Given the description of an element on the screen output the (x, y) to click on. 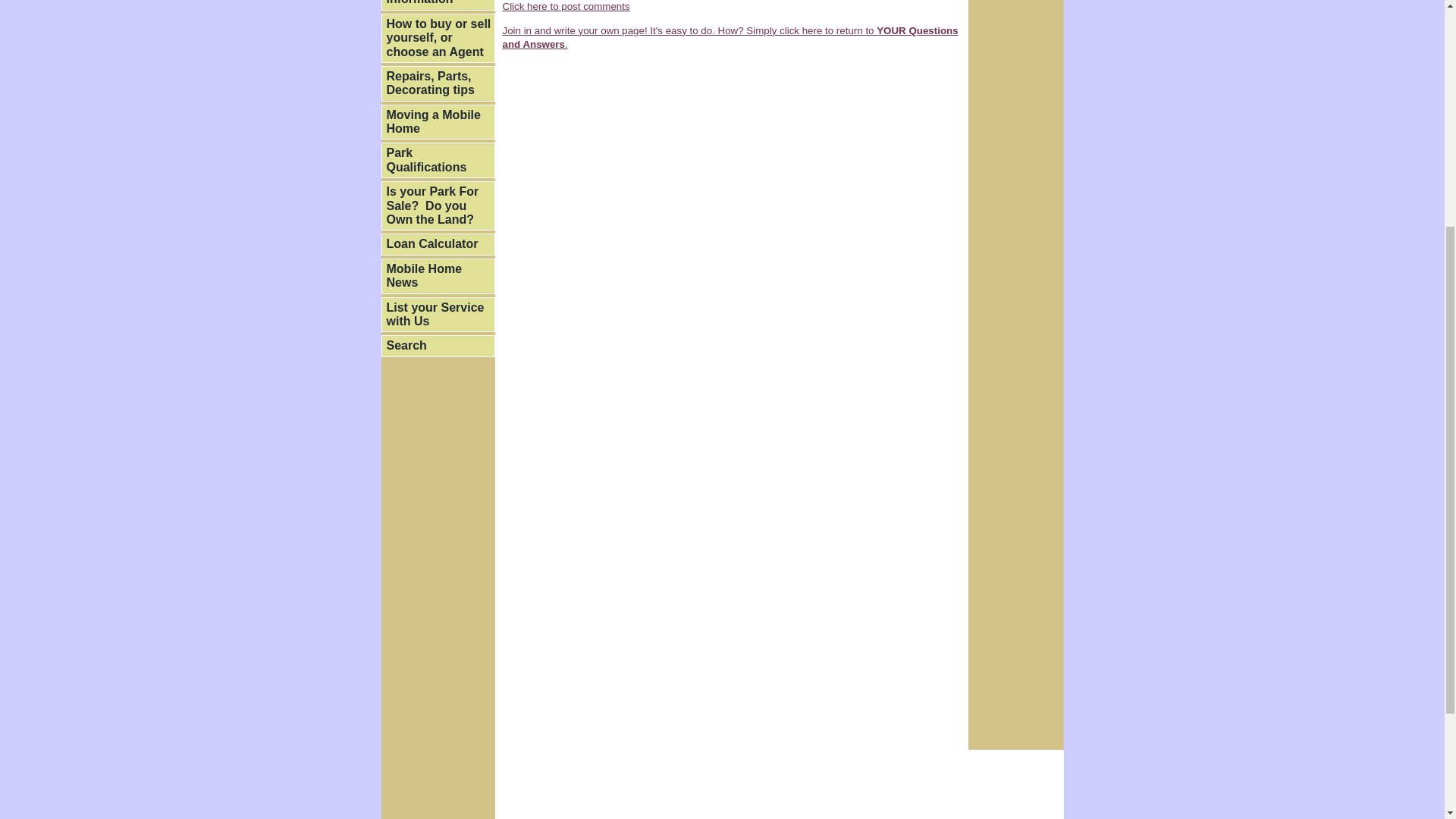
Search (437, 345)
Moving a Mobile Home (437, 122)
How to buy or sell yourself, or choose an Agent (437, 38)
Mobile Home News (437, 276)
Park Qualifications (437, 160)
List your Service with Us (437, 314)
Click here to post comments (565, 6)
Insurance information (437, 5)
Is your Park For Sale?  Do you Own the Land? (437, 205)
